Given the description of an element on the screen output the (x, y) to click on. 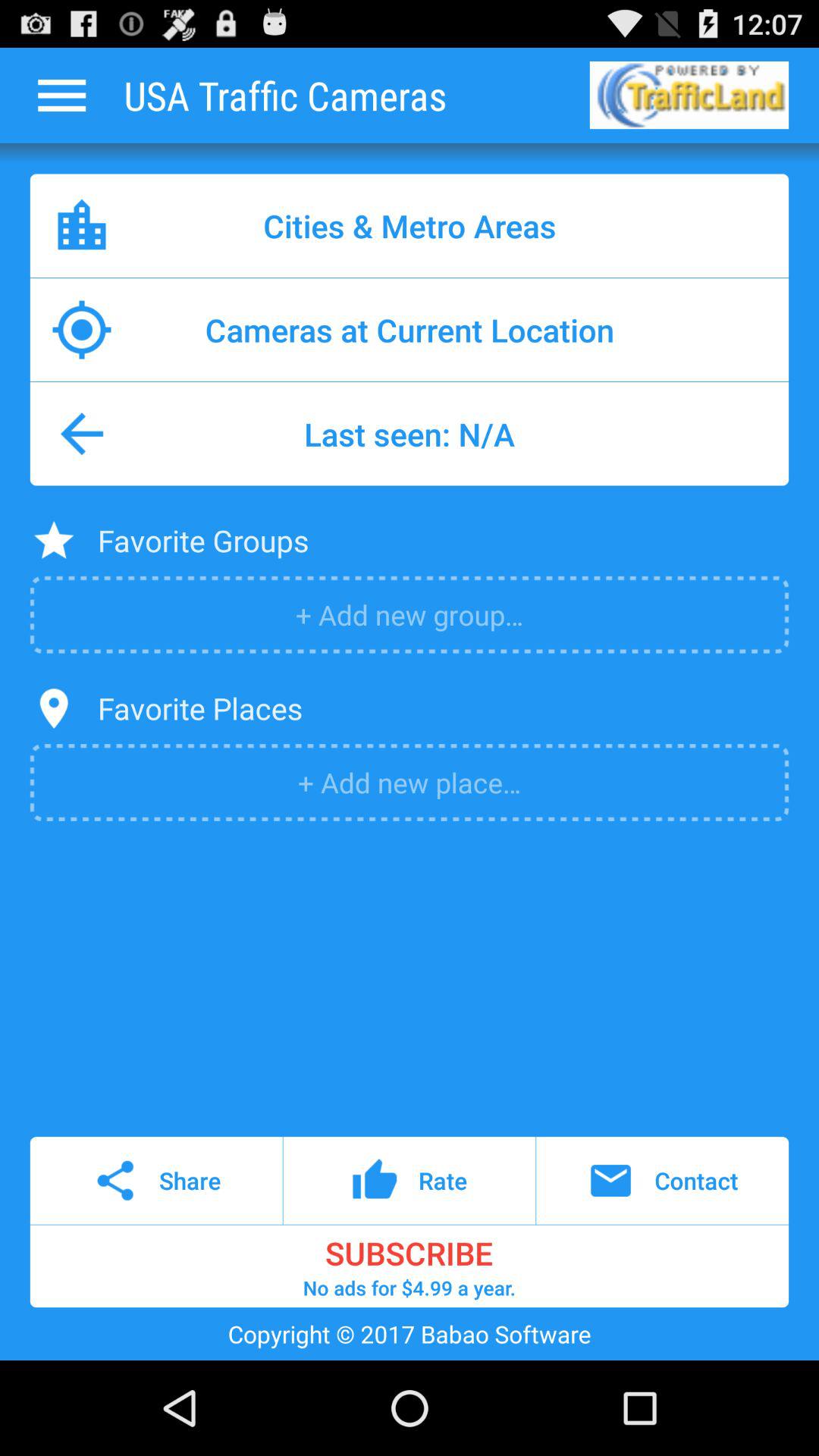
press item next to the last seen n item (81, 433)
